Given the description of an element on the screen output the (x, y) to click on. 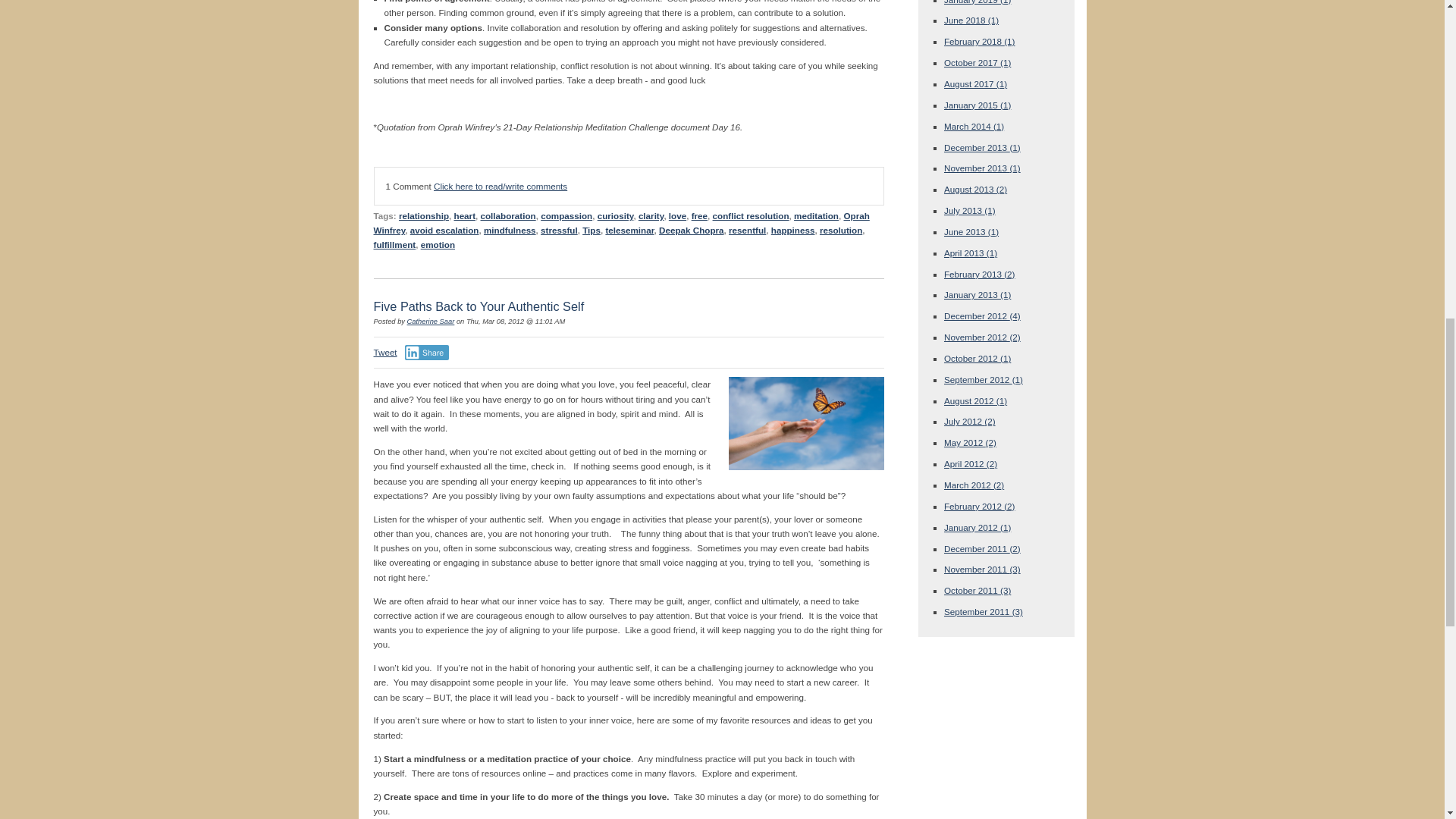
emotion (437, 244)
stressful (559, 230)
heart (465, 215)
collaboration (507, 215)
resolution (840, 230)
Catherine Saar (430, 321)
meditation (815, 215)
resentful (747, 230)
free (699, 215)
teleseminar (629, 230)
Tweet (384, 352)
fulfillment (393, 244)
Deepak Chopra (691, 230)
conflict resolution (751, 215)
relationship (423, 215)
